Given the description of an element on the screen output the (x, y) to click on. 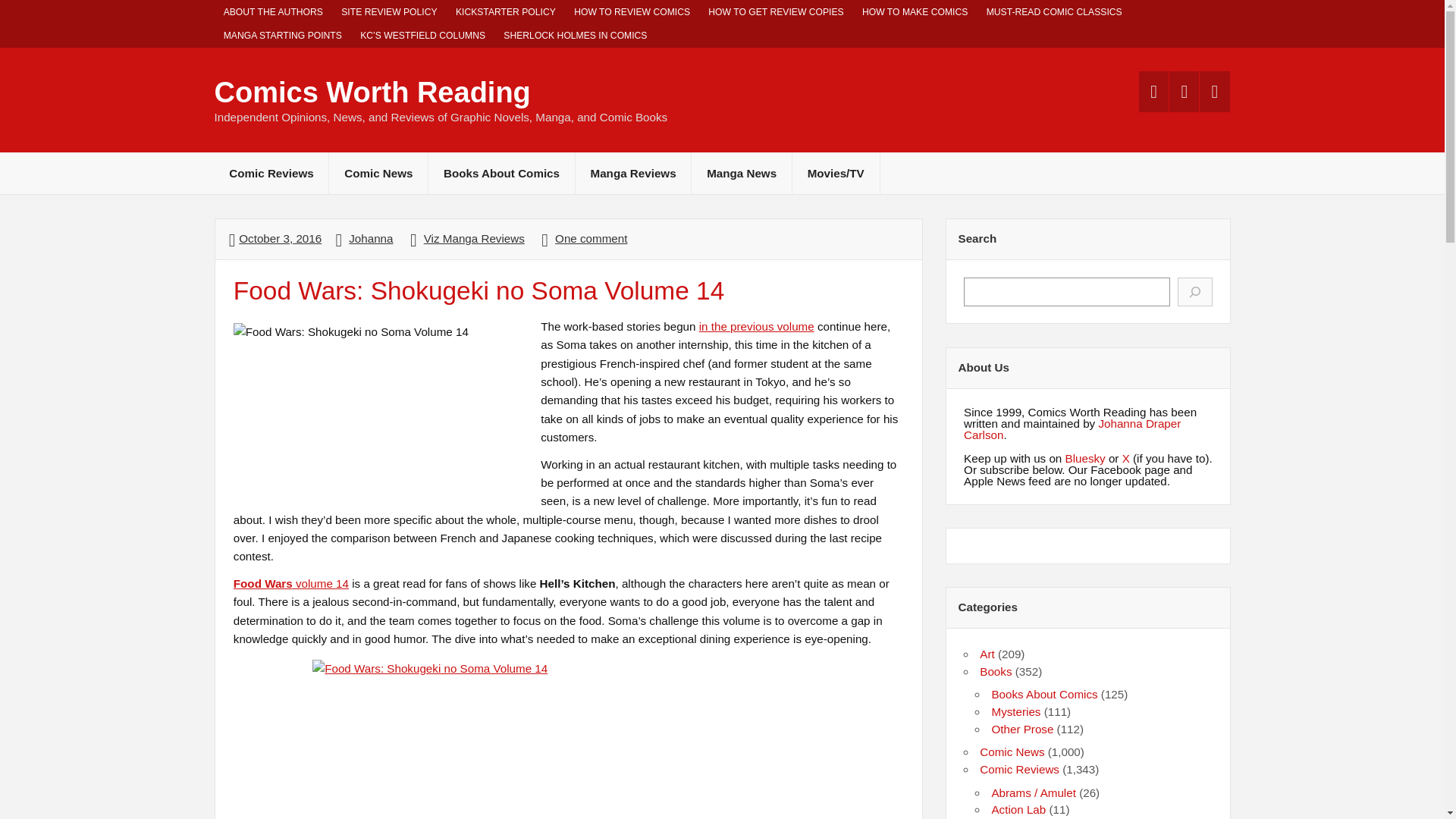
Johanna Draper Carlson (1071, 428)
View all posts by Johanna (371, 237)
Manga Reviews (633, 173)
MUST-READ COMIC CLASSICS (1053, 12)
in the previous volume (755, 326)
Books About Comics (501, 173)
Comic Reviews (271, 173)
October 3, 2016 (279, 237)
ABOUT THE AUTHORS (272, 12)
Bluesky (1085, 458)
